Given the description of an element on the screen output the (x, y) to click on. 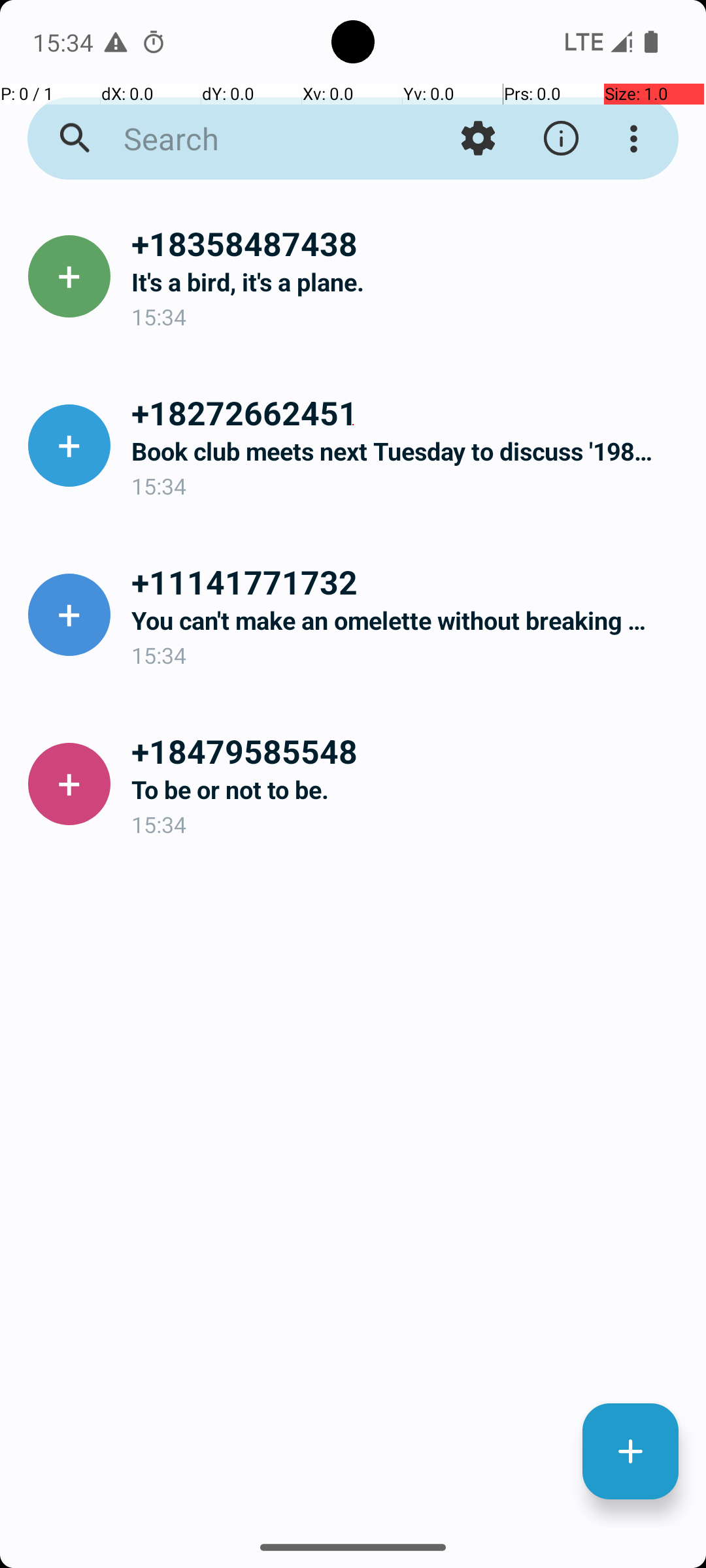
+18358487438 Element type: android.widget.TextView (408, 242)
+18272662451 Element type: android.widget.TextView (408, 412)
Book club meets next Tuesday to discuss '1984'. Element type: android.widget.TextView (408, 450)
+11141771732 Element type: android.widget.TextView (408, 581)
You can't make an omelette without breaking a few eggs. Element type: android.widget.TextView (408, 620)
+18479585548 Element type: android.widget.TextView (408, 750)
To be or not to be. Element type: android.widget.TextView (408, 789)
